Given the description of an element on the screen output the (x, y) to click on. 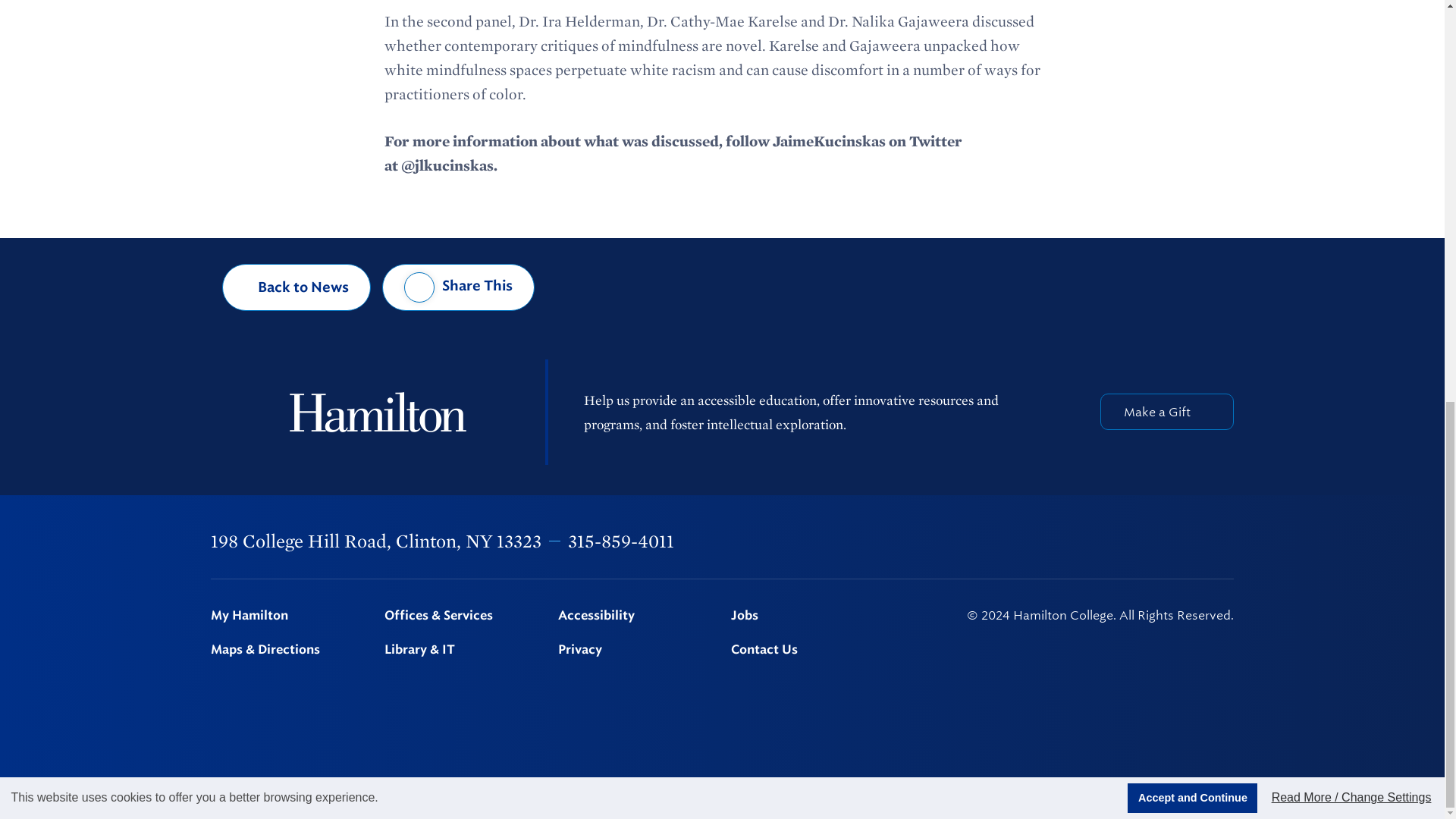
Share This (457, 287)
Facebook (1029, 540)
Make a Gift (1166, 411)
198 College Hill Road, Clinton, NY 13323 (375, 540)
Youtube (1188, 540)
Accept and Continue (1191, 12)
TikTok (1226, 540)
Instagram (1109, 540)
Back to News (296, 287)
My Hamilton (288, 615)
Linkedin (1149, 540)
Twitter (1069, 540)
315-859-4011 (620, 540)
